Given the description of an element on the screen output the (x, y) to click on. 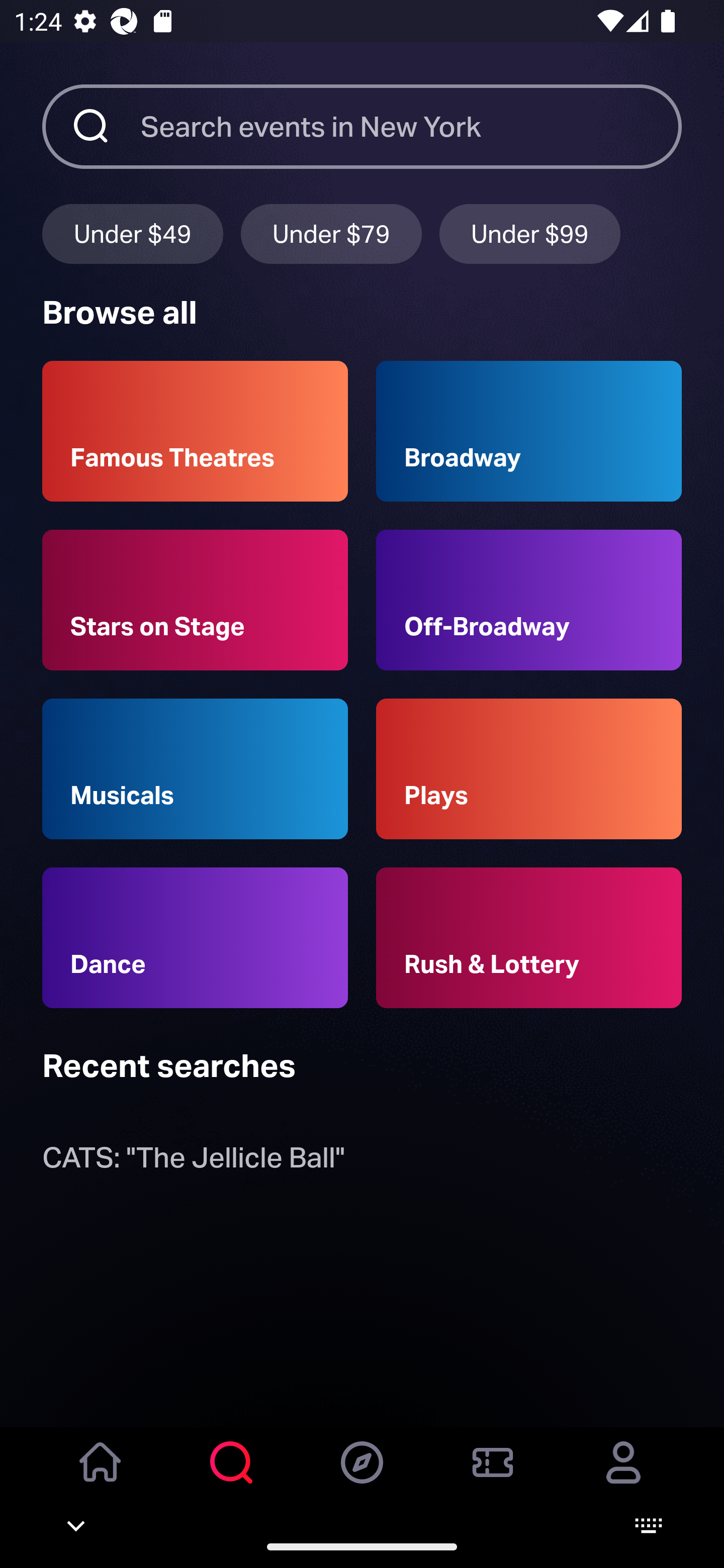
Search events in New York (411, 126)
Under $49 (131, 233)
Under $79 (331, 233)
Under $99 (529, 233)
Famous Theatres (194, 430)
Broadway (528, 430)
Stars on Stage (194, 600)
Off-Broadway (528, 600)
Musicals (194, 768)
Plays (528, 768)
Dance (194, 937)
Rush & Lottery (528, 937)
CATS: "The Jellicle Ball" (193, 1161)
Home (100, 1475)
Discover (361, 1475)
Orders (492, 1475)
Account (623, 1475)
